Given the description of an element on the screen output the (x, y) to click on. 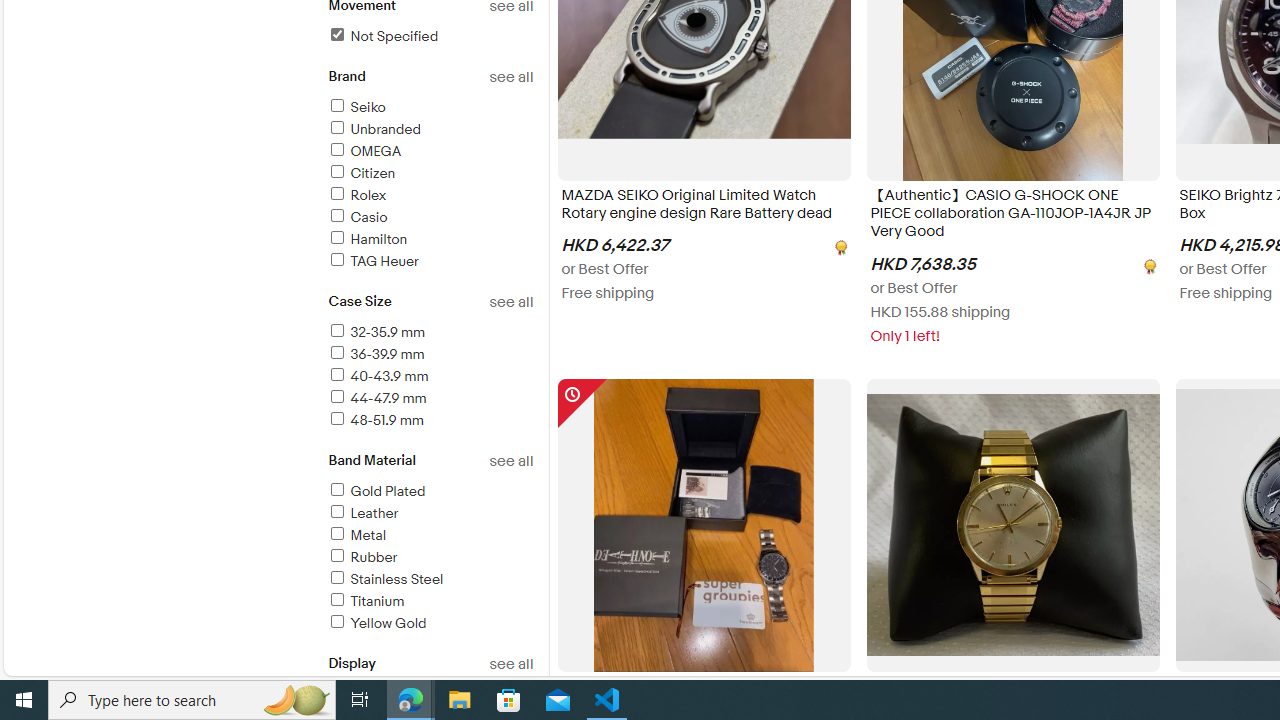
Titanium (365, 601)
Gold Plated (430, 492)
Gold Plated (376, 491)
Citizen (430, 174)
Yellow Gold (376, 623)
Rolex (356, 195)
